Given the description of an element on the screen output the (x, y) to click on. 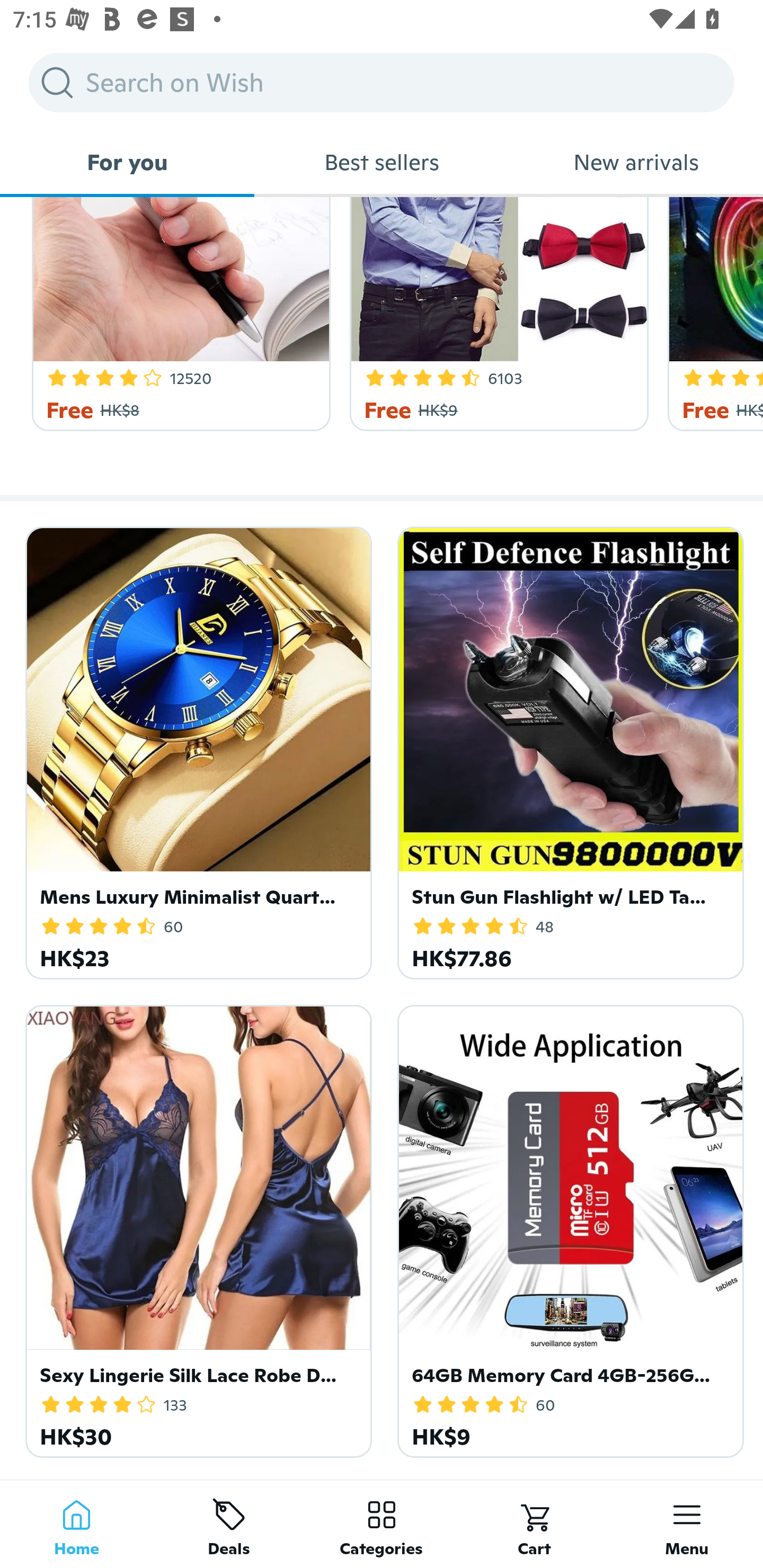
Search on Wish (381, 82)
For you (127, 161)
Best sellers (381, 161)
New arrivals (635, 161)
3.9 Star Rating 12520 Free HK$8 (177, 314)
4.4 Star Rating 6103 Free HK$9 (495, 314)
Home (76, 1523)
Deals (228, 1523)
Categories (381, 1523)
Cart (533, 1523)
Menu (686, 1523)
